Given the description of an element on the screen output the (x, y) to click on. 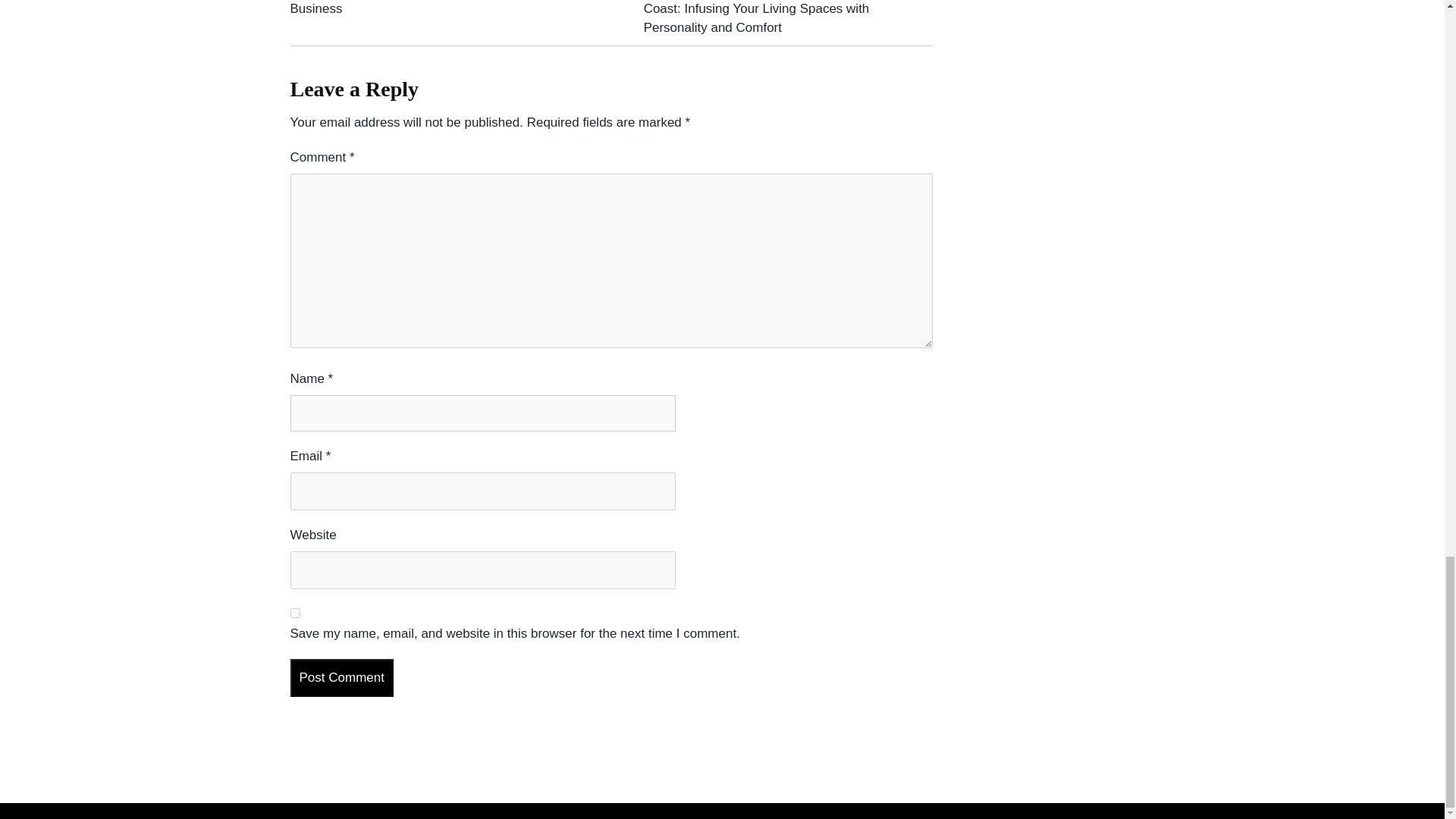
How to Get a Custom Printed Marquee For Your Business (426, 7)
Post Comment (341, 677)
yes (294, 613)
Post Comment (341, 677)
